Given the description of an element on the screen output the (x, y) to click on. 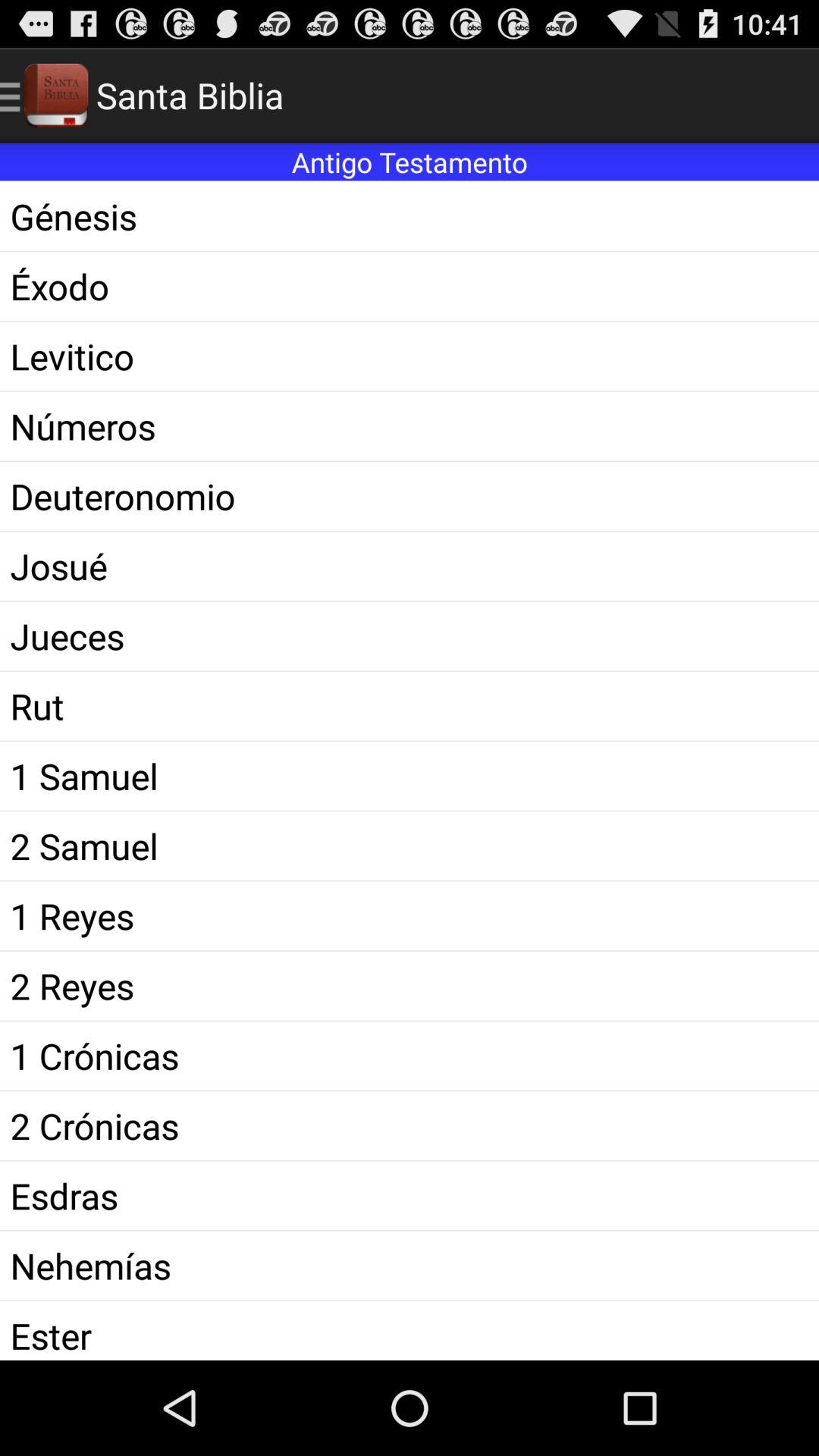
flip to the rut app (409, 705)
